Given the description of an element on the screen output the (x, y) to click on. 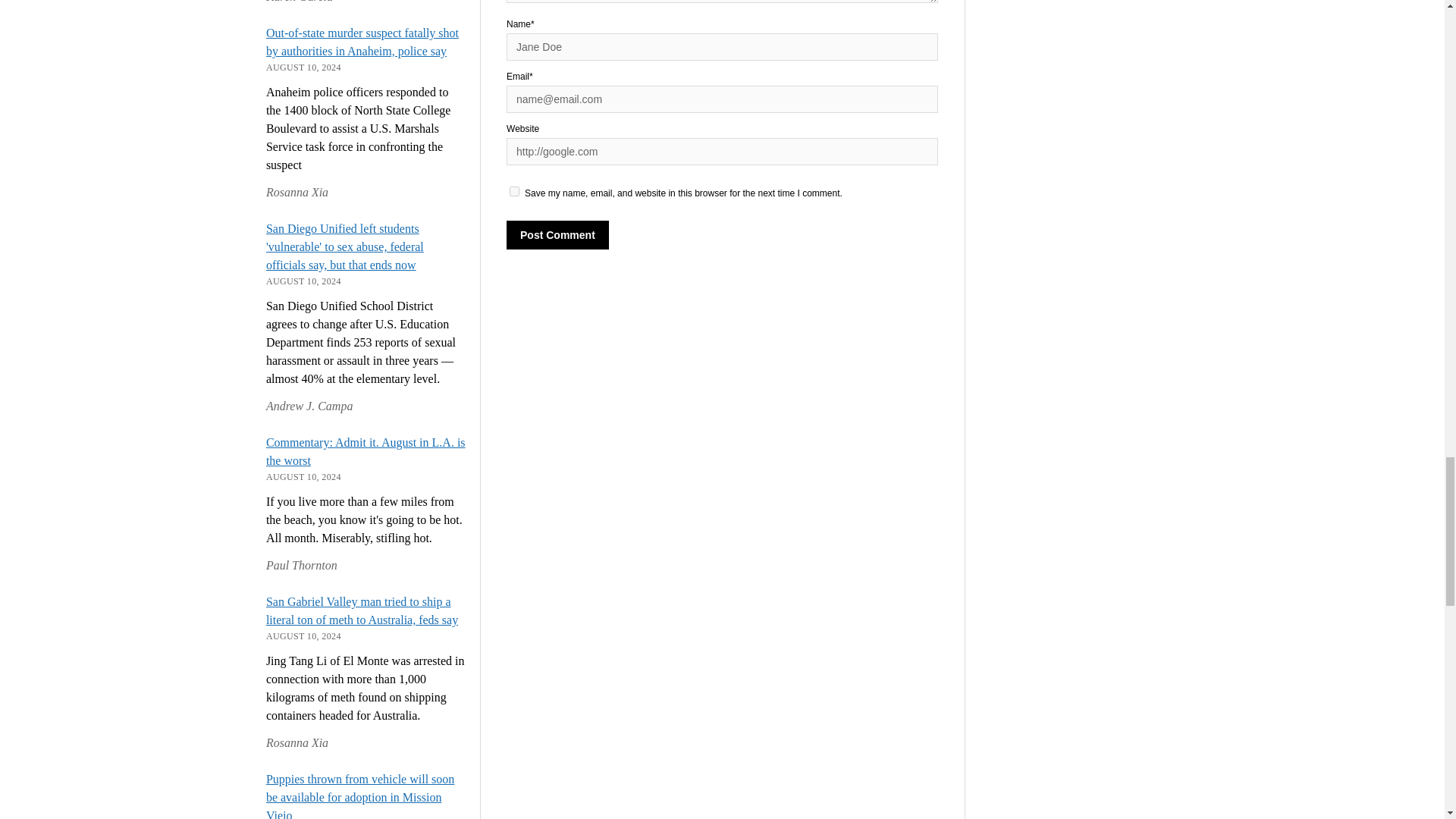
Post Comment (557, 234)
yes (514, 191)
